Given the description of an element on the screen output the (x, y) to click on. 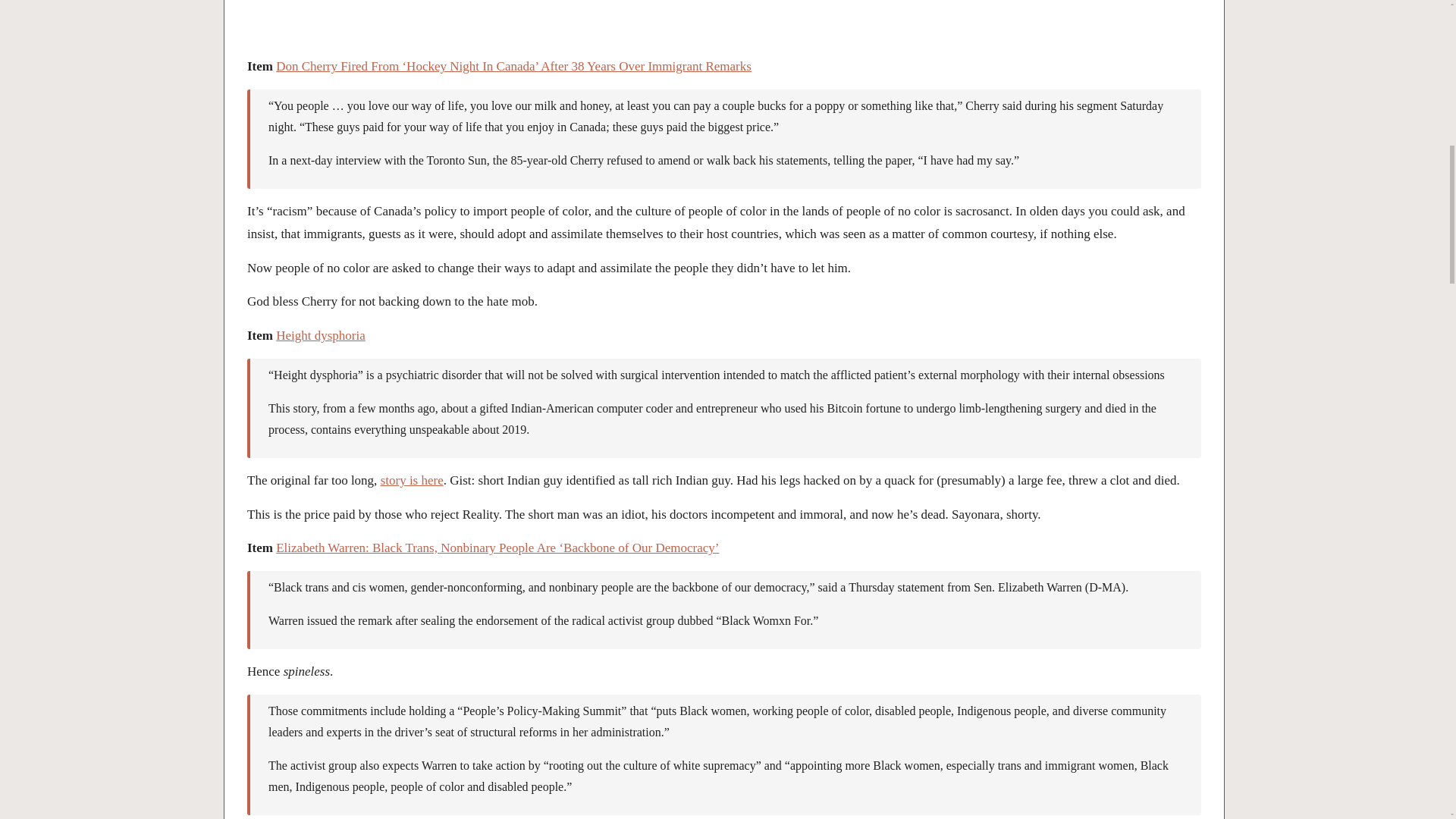
story is here (412, 480)
Height dysphoria (320, 335)
